Given the description of an element on the screen output the (x, y) to click on. 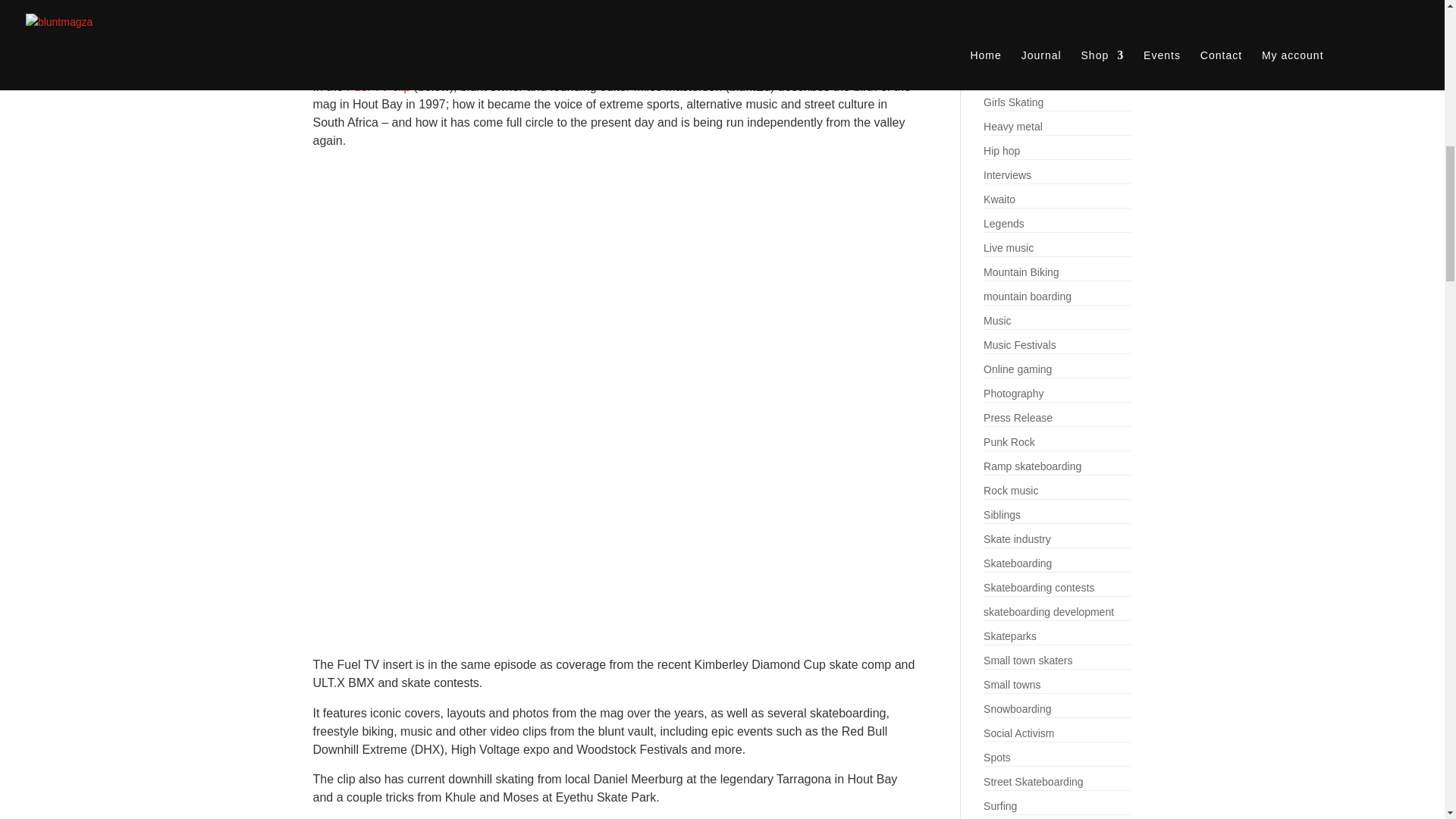
Fuel TV clip (378, 86)
